Given the description of an element on the screen output the (x, y) to click on. 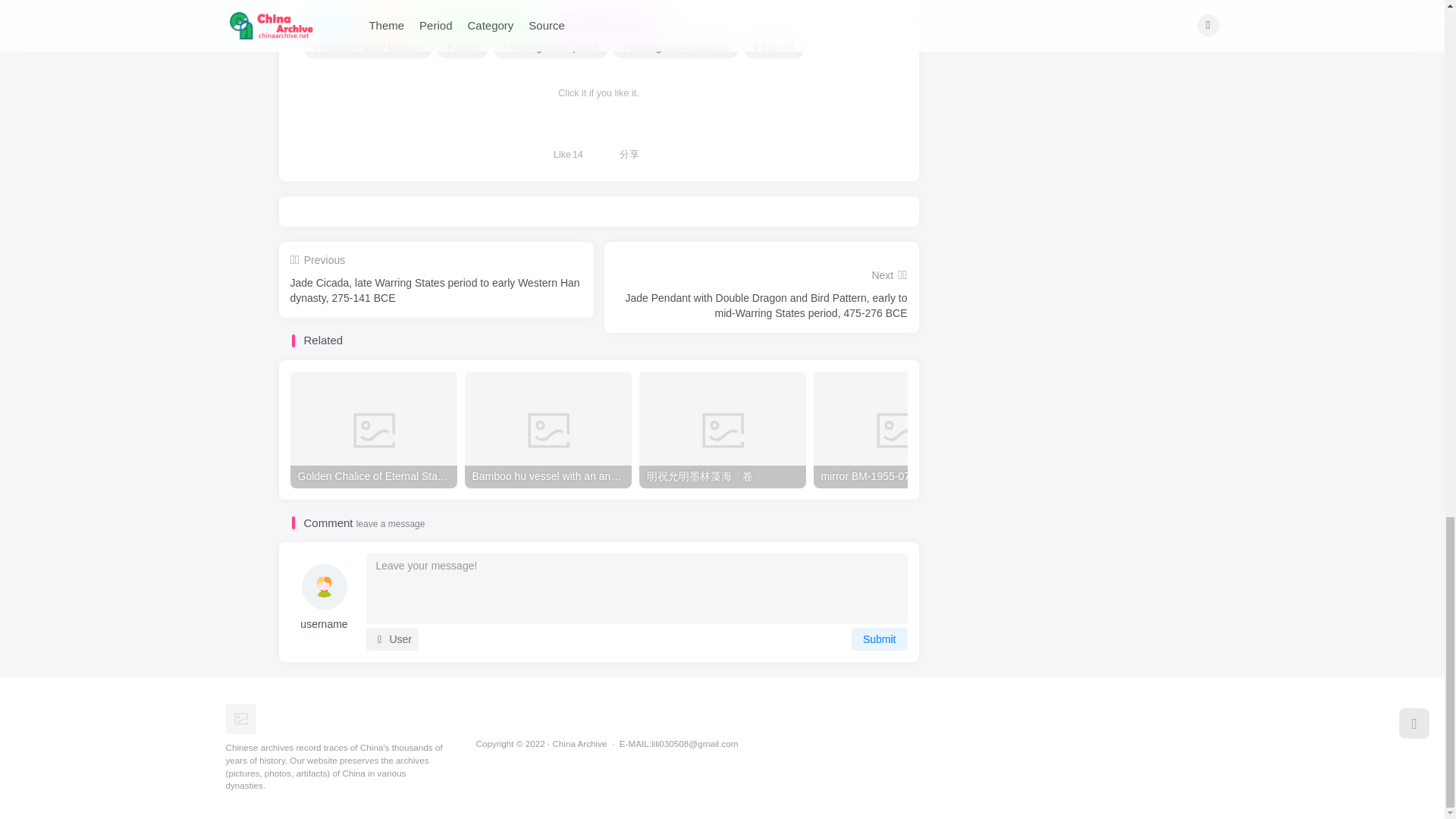
View more articles on this label (461, 48)
China Archive (240, 717)
View more articles on this label (774, 48)
View more articles on this label (550, 48)
View more articles on this label (366, 48)
Fill in user information (323, 624)
View more articles on this label (675, 48)
